Given the description of an element on the screen output the (x, y) to click on. 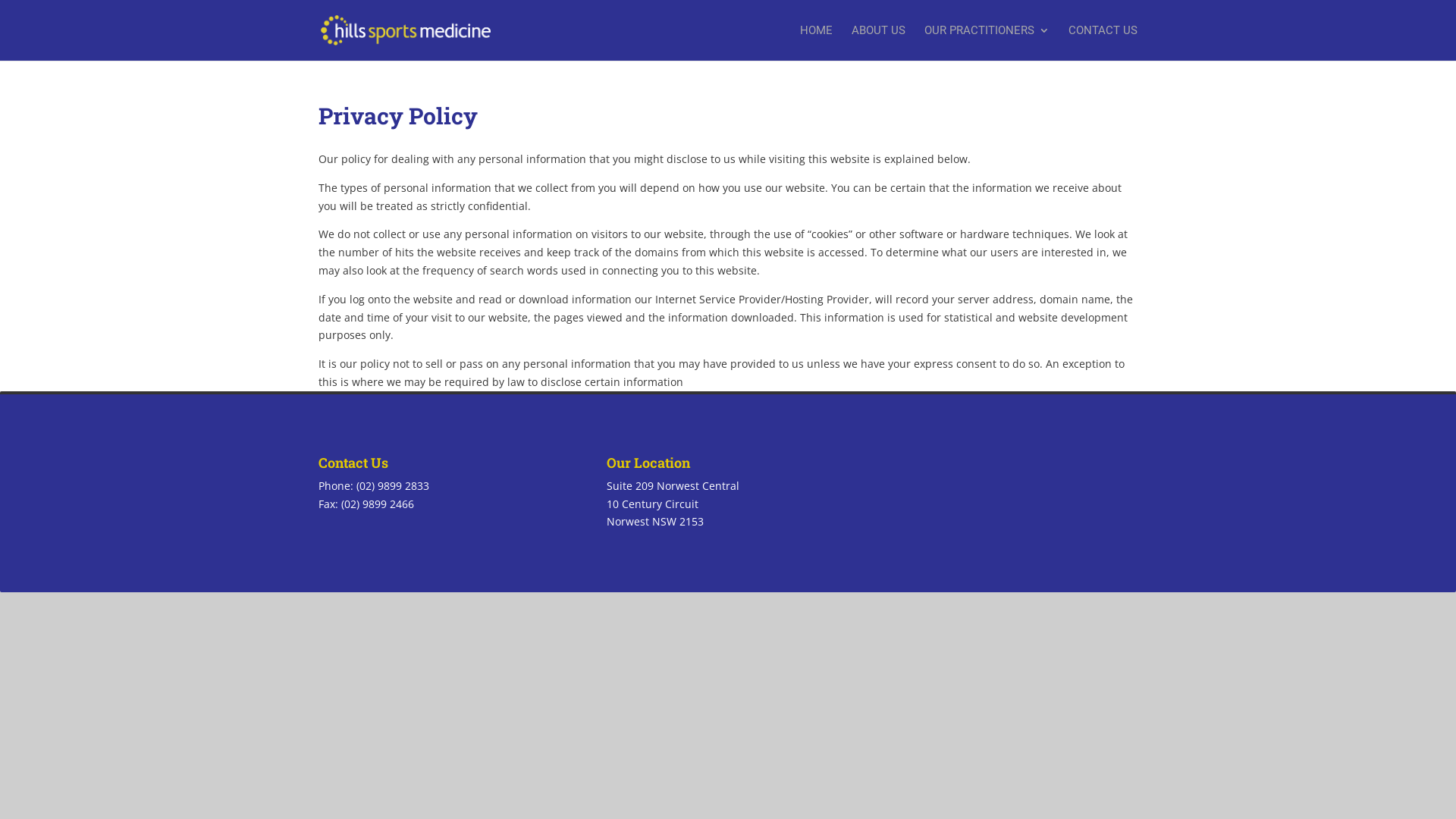
HOME Element type: text (816, 42)
CONTACT US Element type: text (1102, 42)
ABOUT US Element type: text (878, 42)
OUR PRACTITIONERS Element type: text (986, 42)
